Given the description of an element on the screen output the (x, y) to click on. 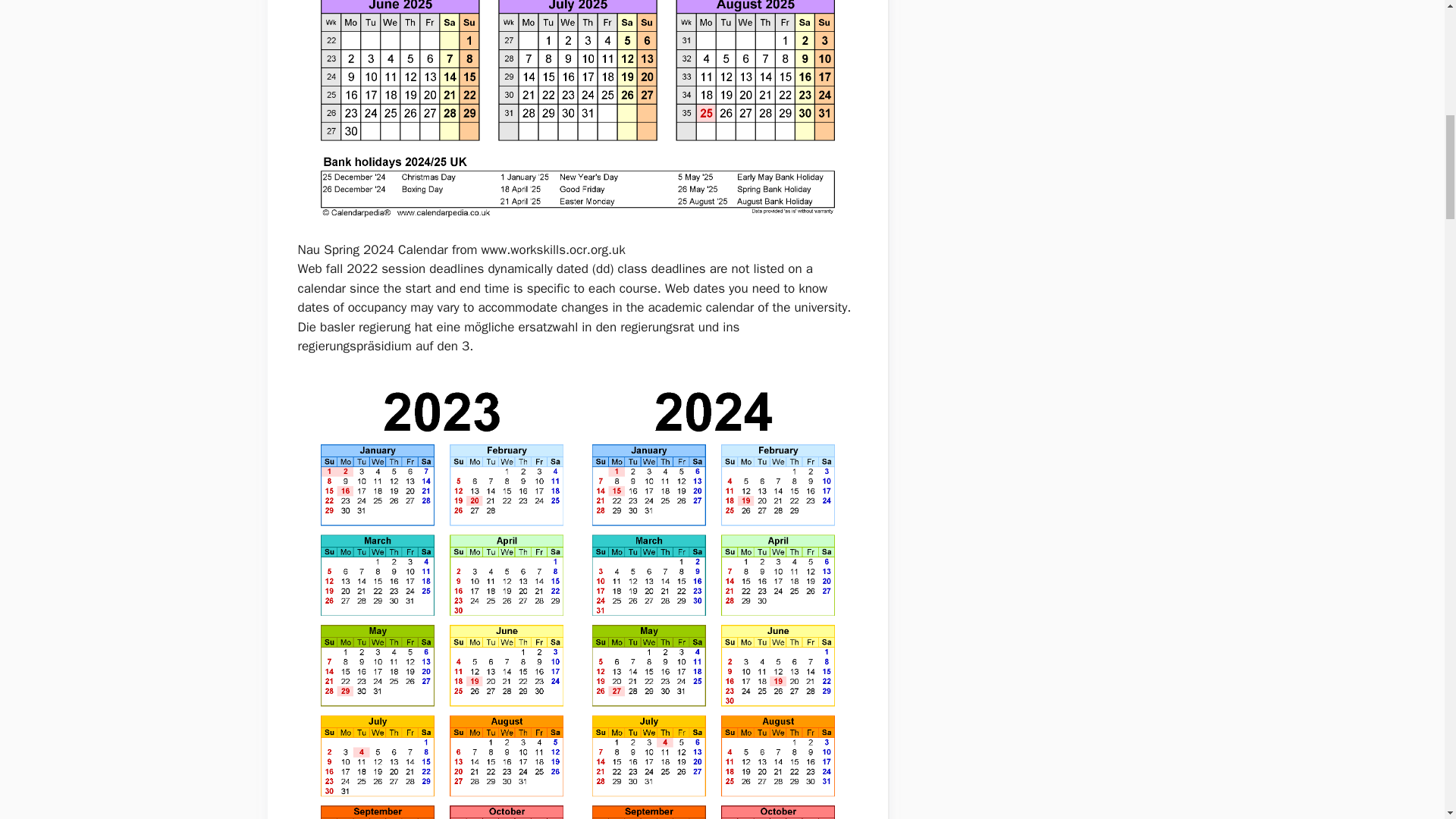
Nau Fall 2024 Calendar (577, 117)
